Given the description of an element on the screen output the (x, y) to click on. 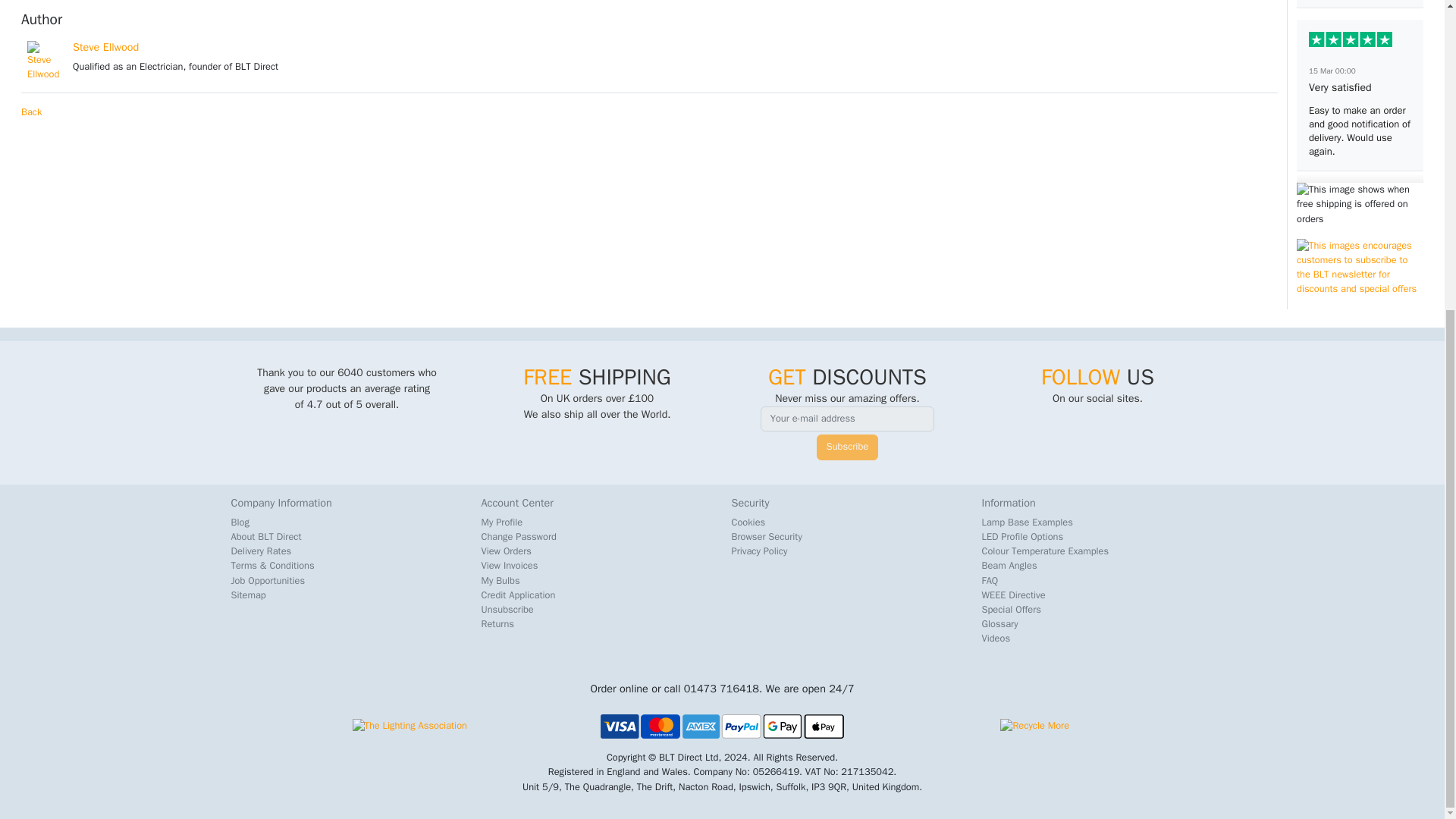
Free Shipping from BLT Direct (1360, 204)
Steve Ellwood (105, 47)
Subscribe to BLT Direct (1360, 304)
Back (31, 111)
Subscribe to BLT Direct (1360, 268)
Subscribe (846, 446)
Steve Ellwood (44, 60)
Steve Ellwood (105, 47)
